Given the description of an element on the screen output the (x, y) to click on. 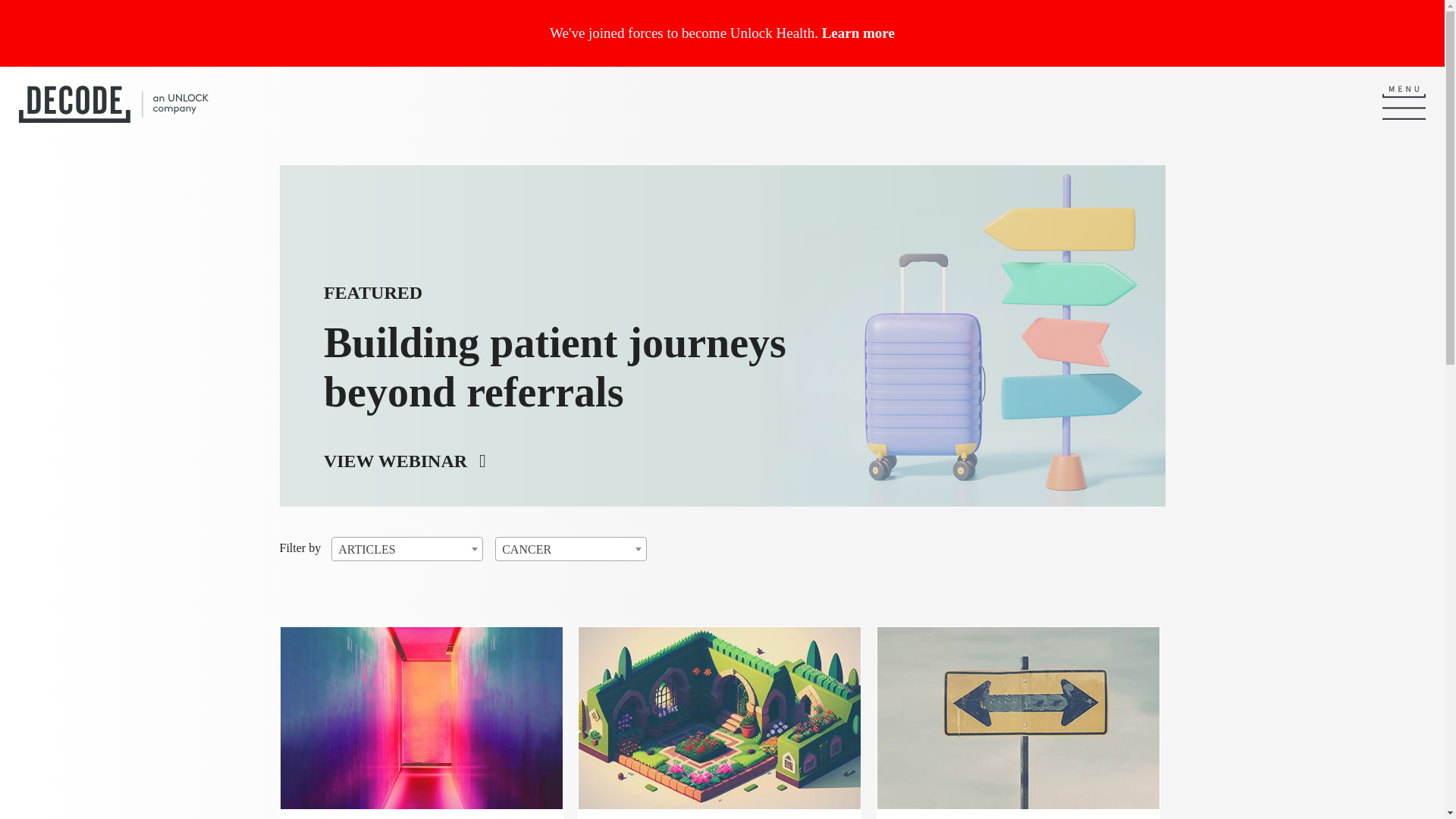
Home (113, 105)
Articles (406, 549)
Learn more (566, 349)
VIEW WEBINAR (858, 32)
Cancer (404, 460)
Apply (571, 549)
